Given the description of an element on the screen output the (x, y) to click on. 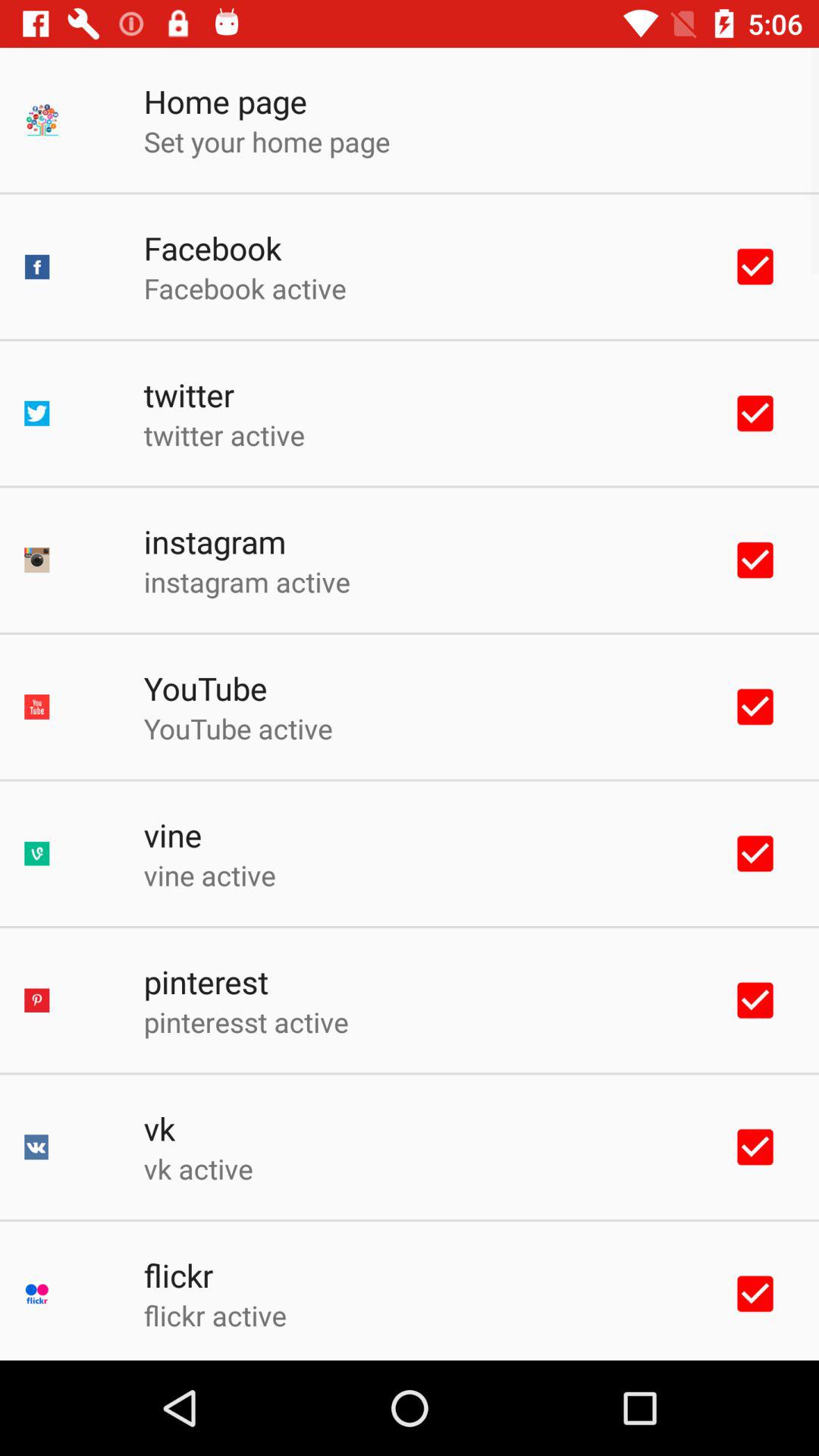
launch app below pinterest item (245, 1021)
